Given the description of an element on the screen output the (x, y) to click on. 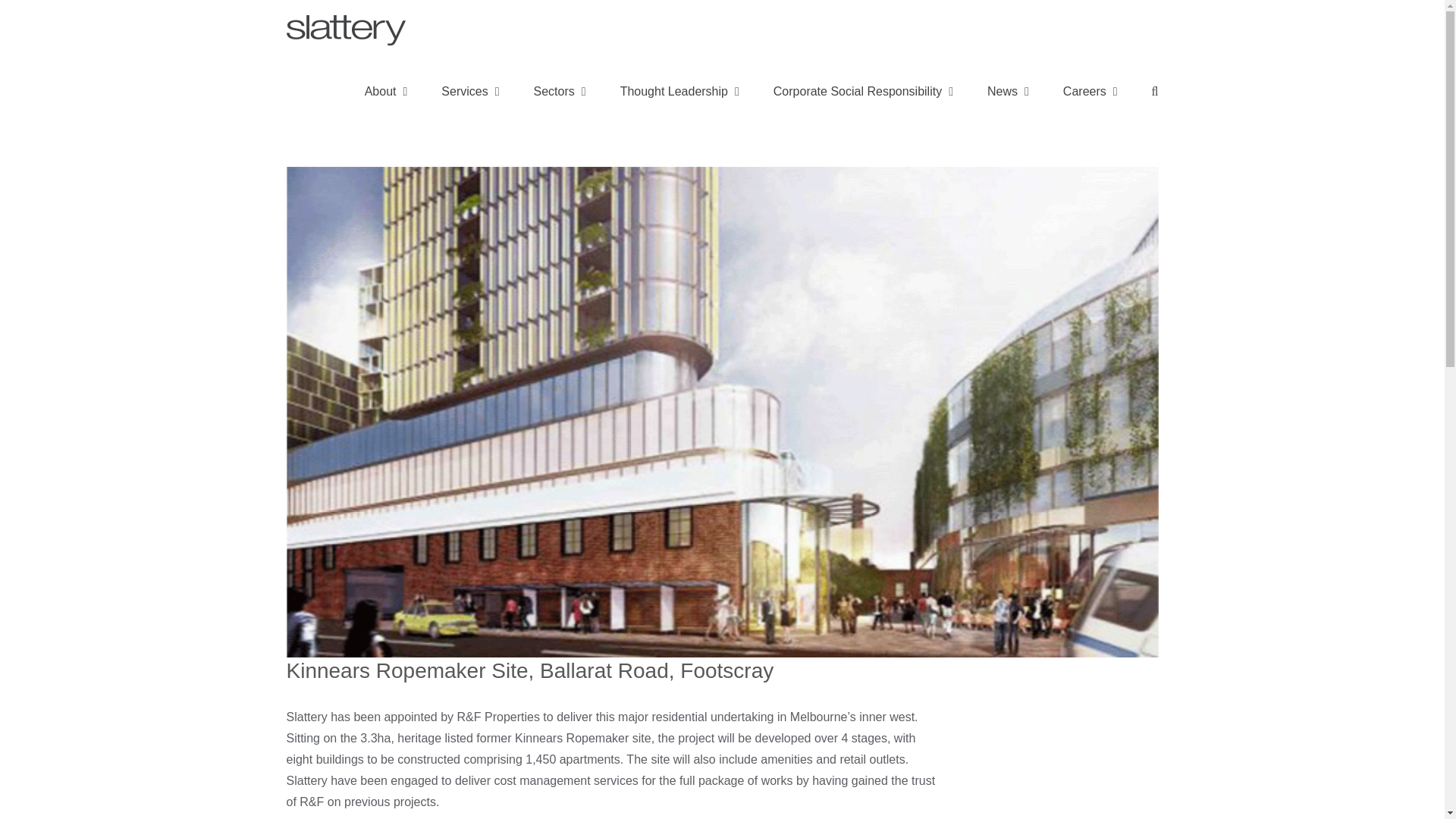
Services (470, 90)
